Given the description of an element on the screen output the (x, y) to click on. 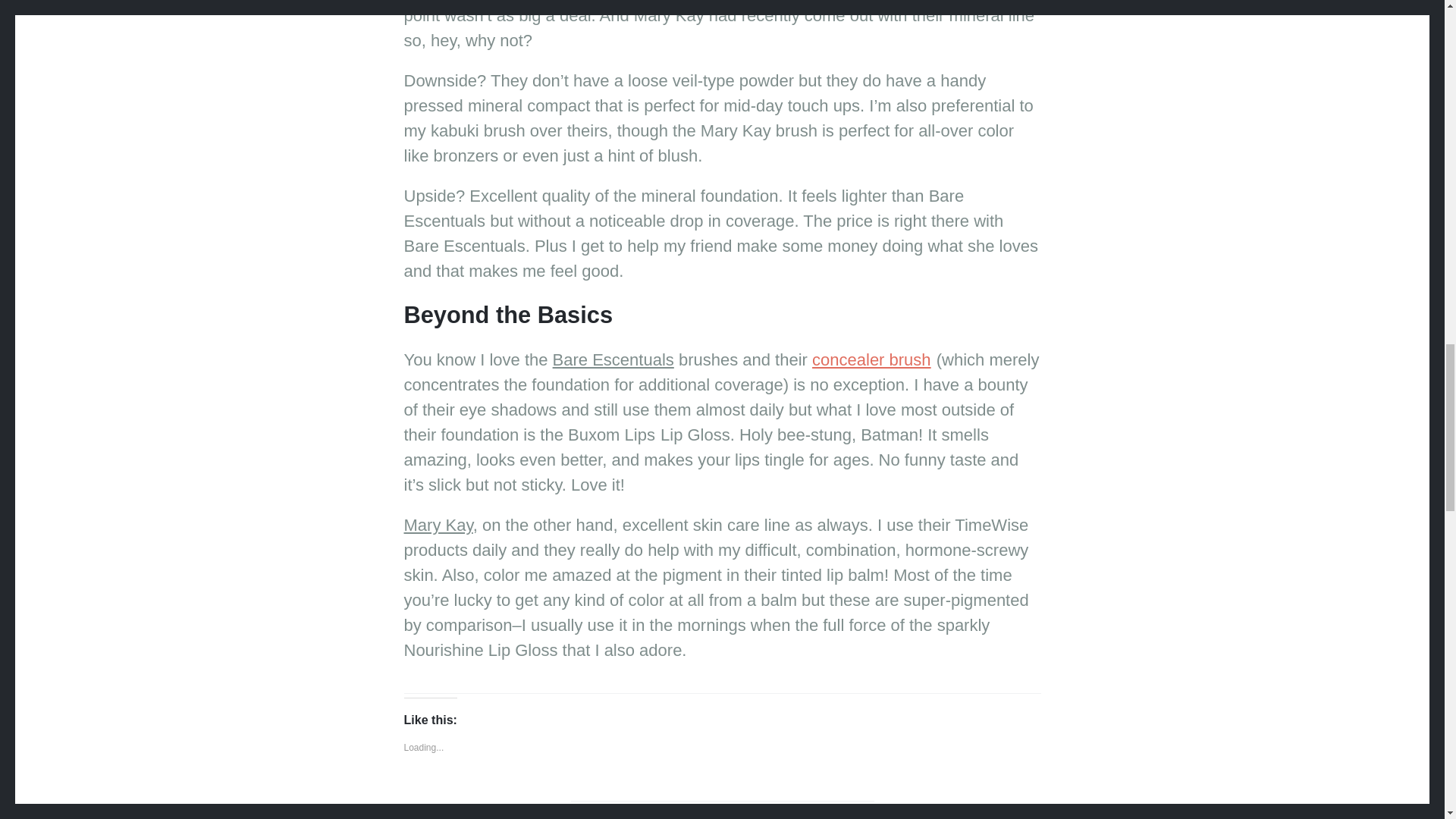
cosmetics (690, 818)
concealer brush (871, 359)
foundation (797, 818)
bare minerals (627, 818)
covergirl (742, 818)
lip gloss (980, 818)
lip balm (933, 818)
bare escentuals (550, 818)
